Given the description of an element on the screen output the (x, y) to click on. 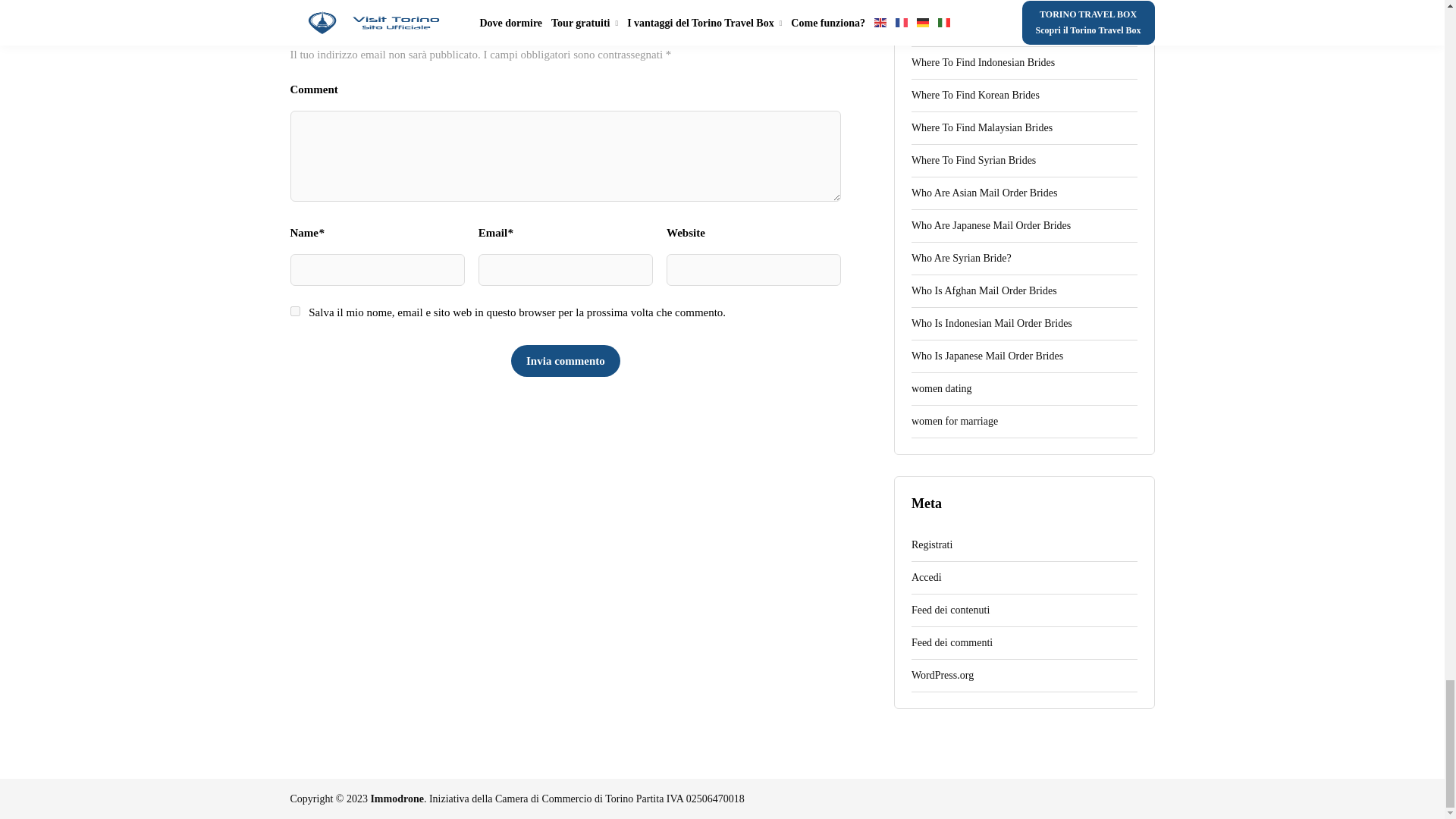
Invia commento (565, 360)
yes (294, 311)
Invia commento (565, 360)
